Given the description of an element on the screen output the (x, y) to click on. 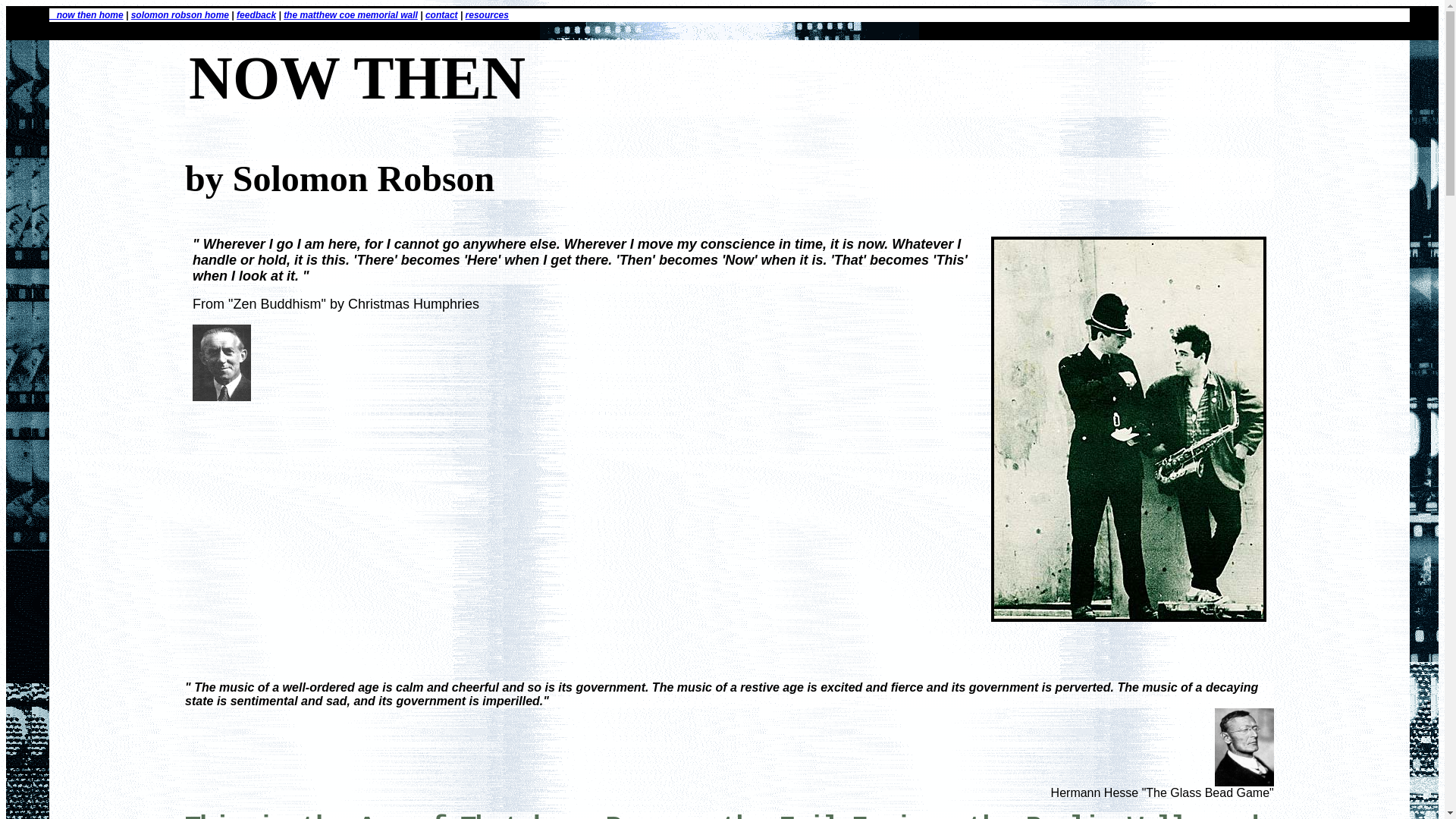
   now then home (86, 14)
the matthew coe memorial wall (350, 14)
resources (486, 14)
solomon robson home (179, 14)
contact (441, 14)
feedback (255, 14)
